Given the description of an element on the screen output the (x, y) to click on. 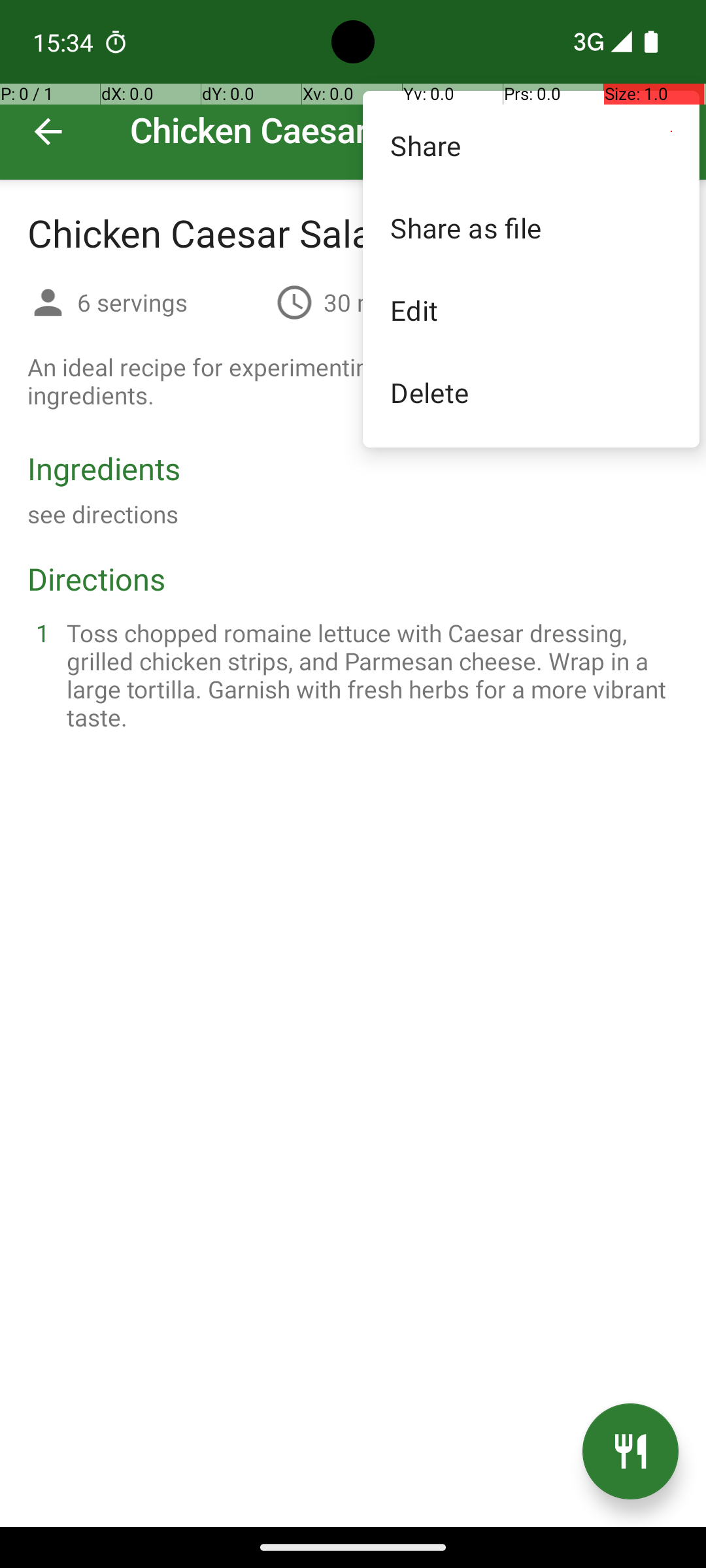
Share as file Element type: android.widget.TextView (531, 227)
